Given the description of an element on the screen output the (x, y) to click on. 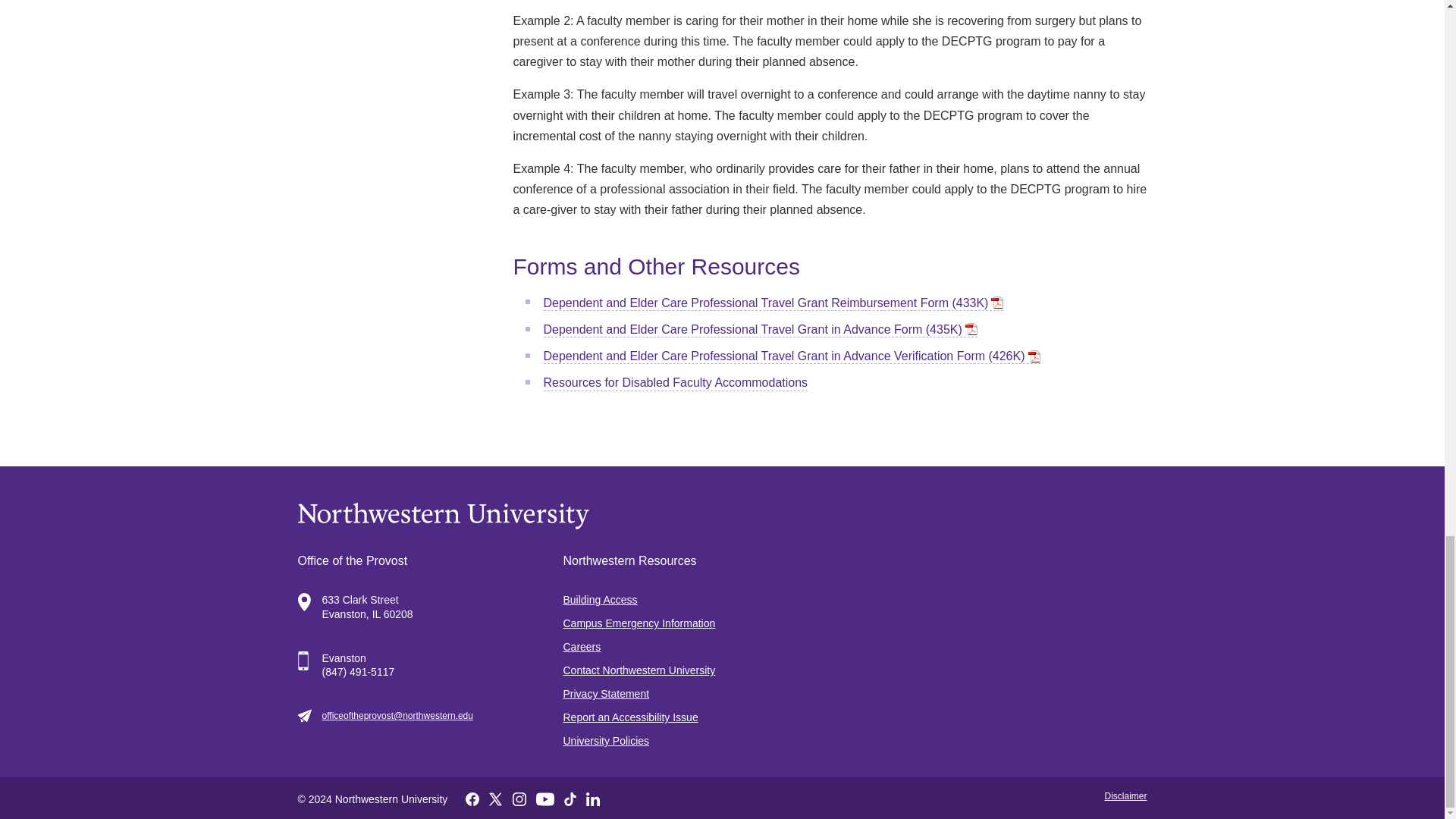
disability-accommodations (675, 382)
Northwestern University Home (722, 515)
